Given the description of an element on the screen output the (x, y) to click on. 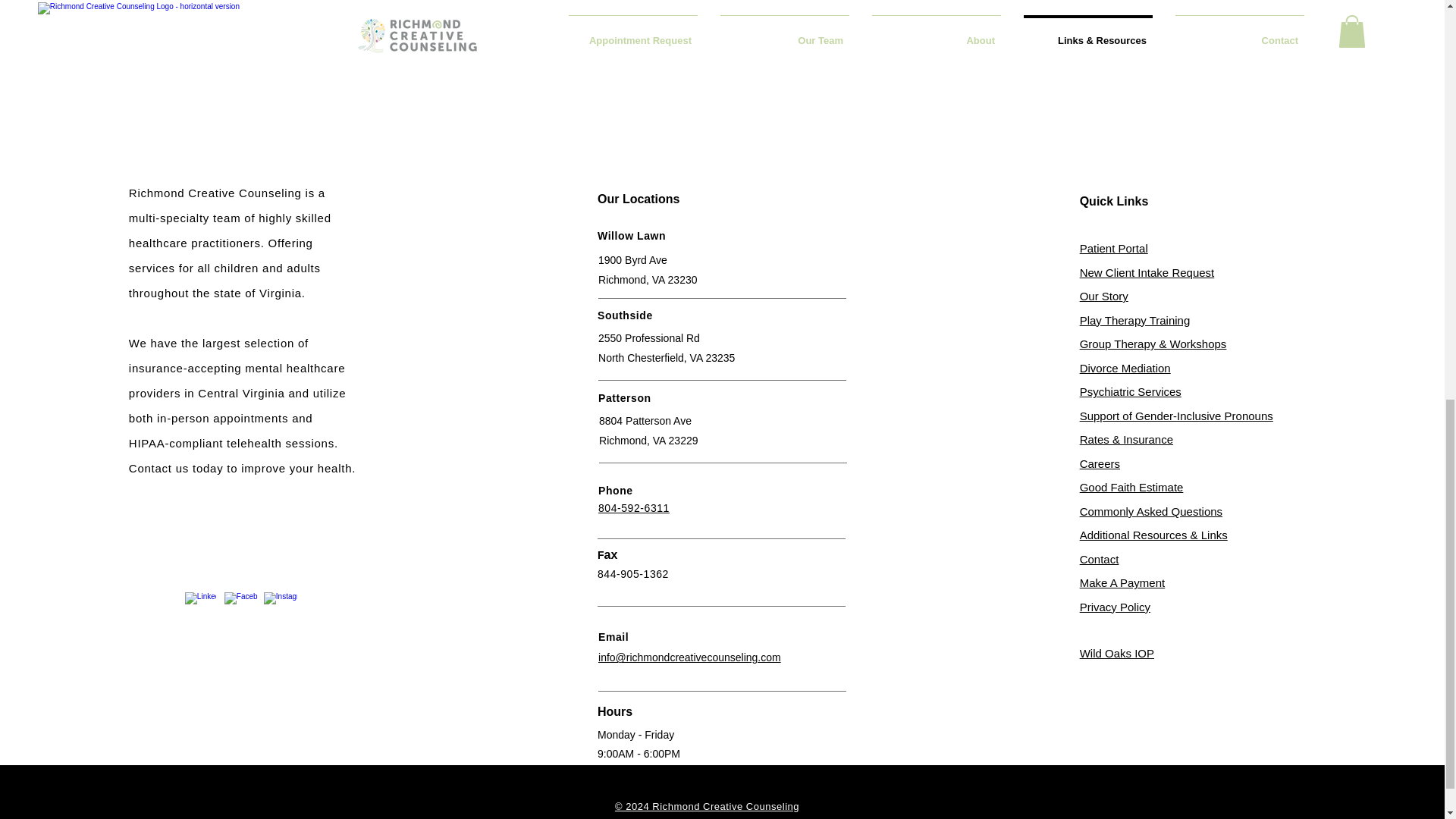
Our Locations (637, 198)
Southside (624, 315)
Quick Links (1114, 201)
804-592-6311 (633, 508)
Email (613, 636)
Willow Lawn (630, 235)
Patient Portal (1114, 247)
Patterson (624, 398)
New Client Intake Request (1147, 272)
Richmond Creative Counseling (215, 192)
